Given the description of an element on the screen output the (x, y) to click on. 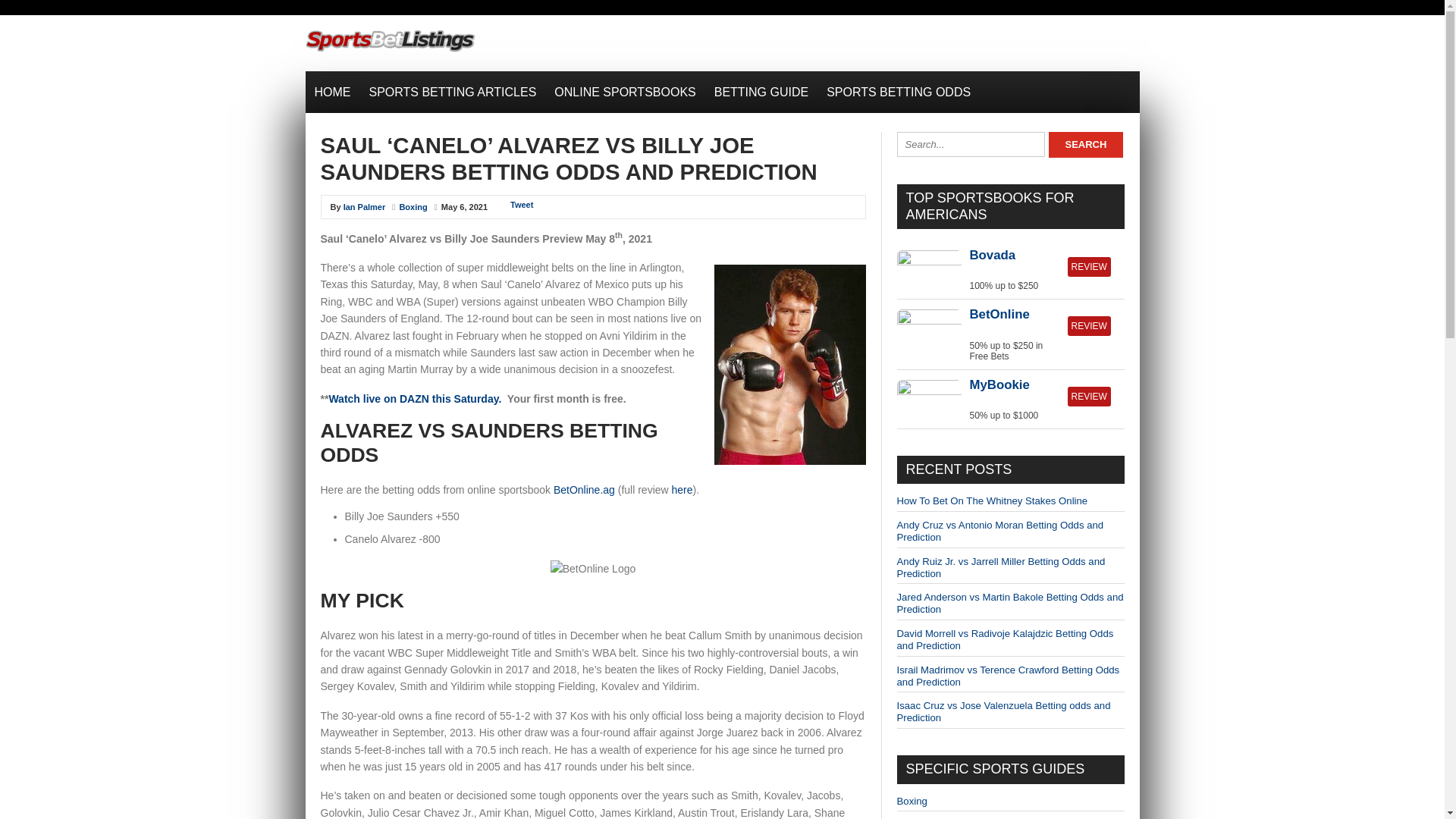
HOME (331, 92)
ONLINE SPORTSBOOKS (624, 92)
Search (1085, 144)
Boxing (412, 206)
REVIEW (1088, 396)
Ian Palmer (364, 206)
Watch live on DAZN this Saturday. (414, 398)
SPORTS BETTING ARTICLES (451, 92)
BetOnline.ag (583, 490)
BETTING GUIDE (760, 92)
REVIEW (1088, 266)
REVIEW (1088, 325)
Andy Cruz vs Antonio Moran Betting Odds and Prediction (999, 530)
Tweet (521, 204)
Bovada (991, 255)
